Given the description of an element on the screen output the (x, y) to click on. 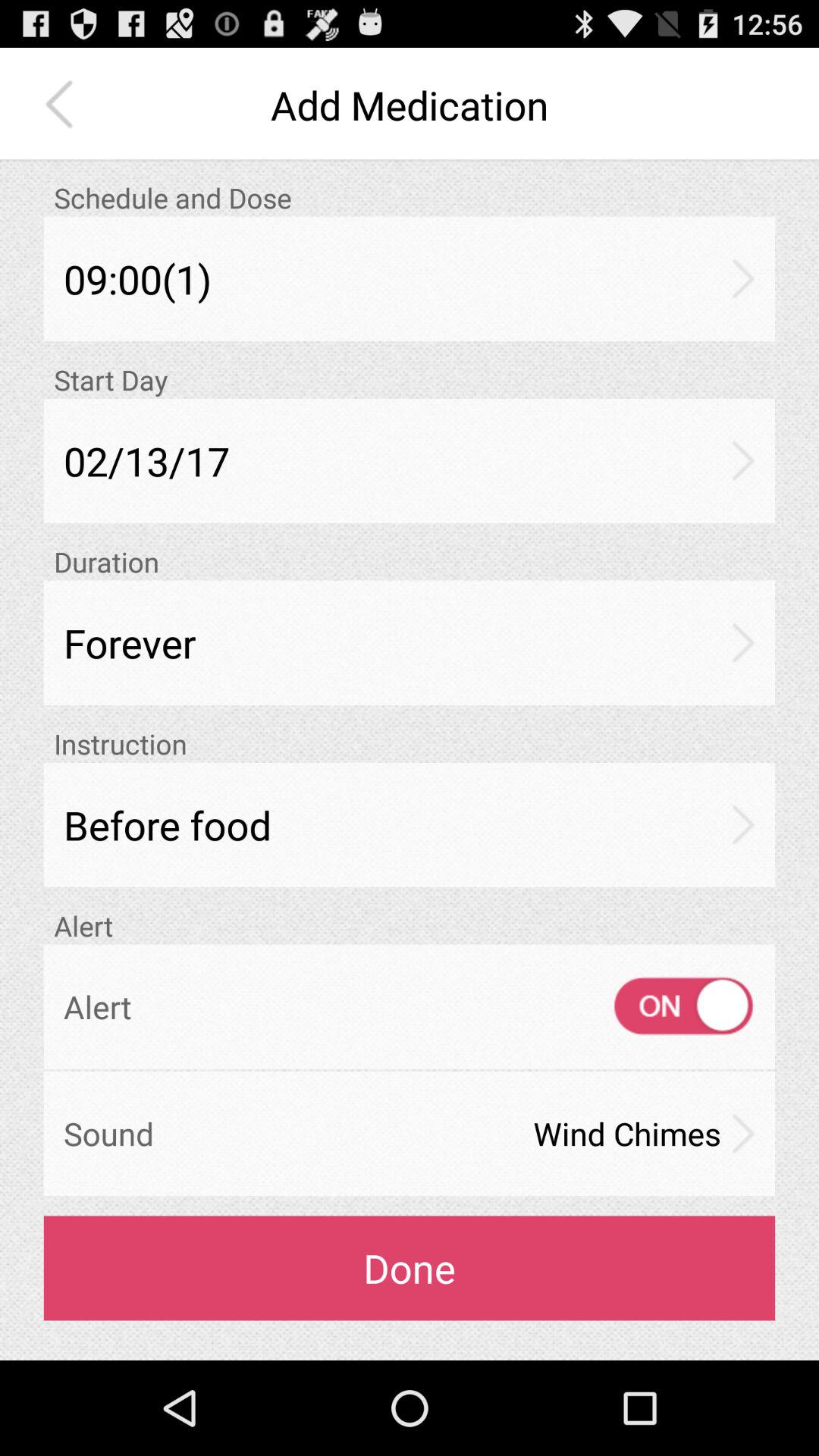
jump to forever (409, 642)
